Given the description of an element on the screen output the (x, y) to click on. 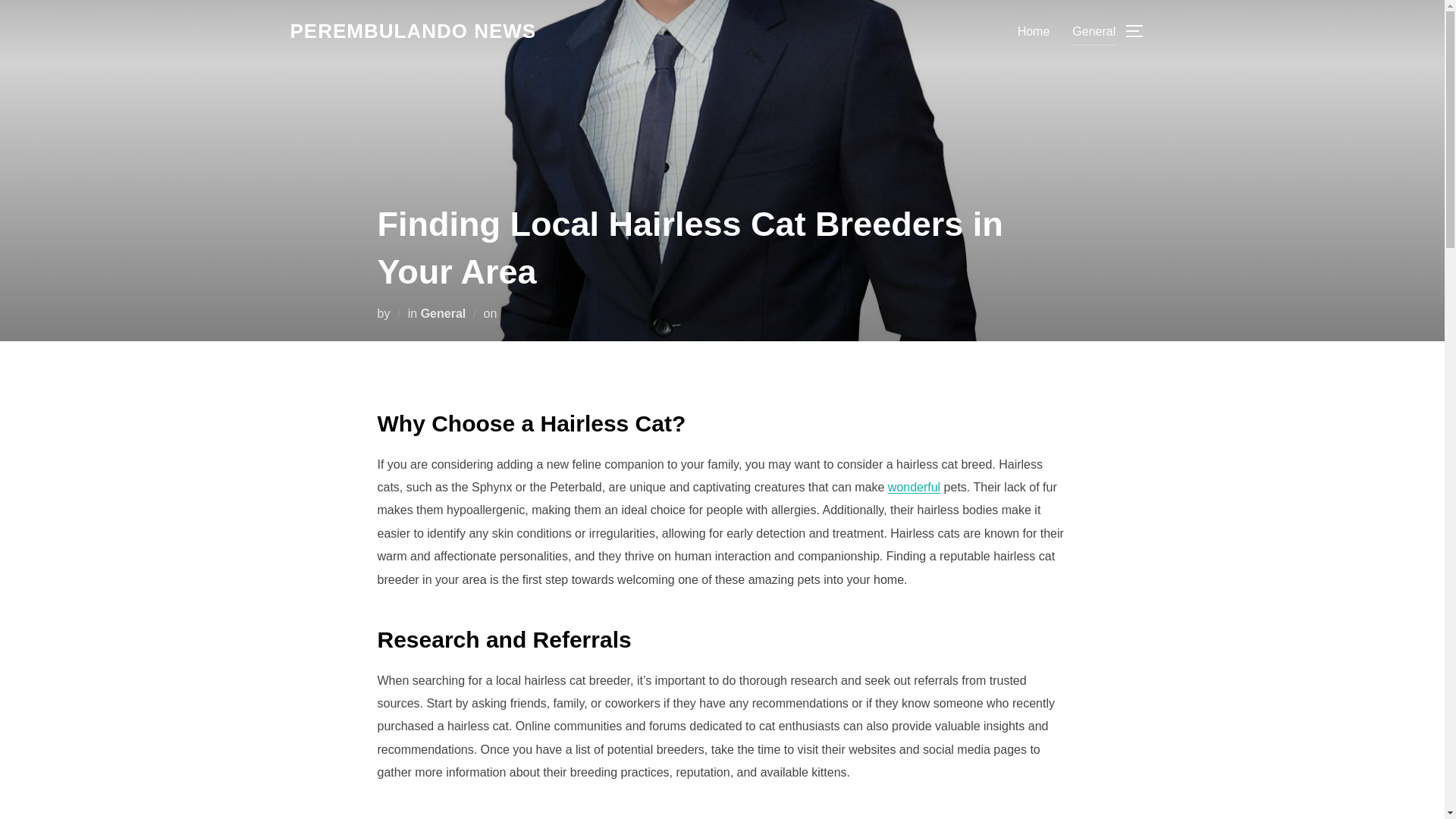
PEREMBULANDO NEWS (412, 31)
General (442, 312)
General (1093, 30)
Home (1033, 30)
Blog (412, 31)
wonderful (914, 486)
